Given the description of an element on the screen output the (x, y) to click on. 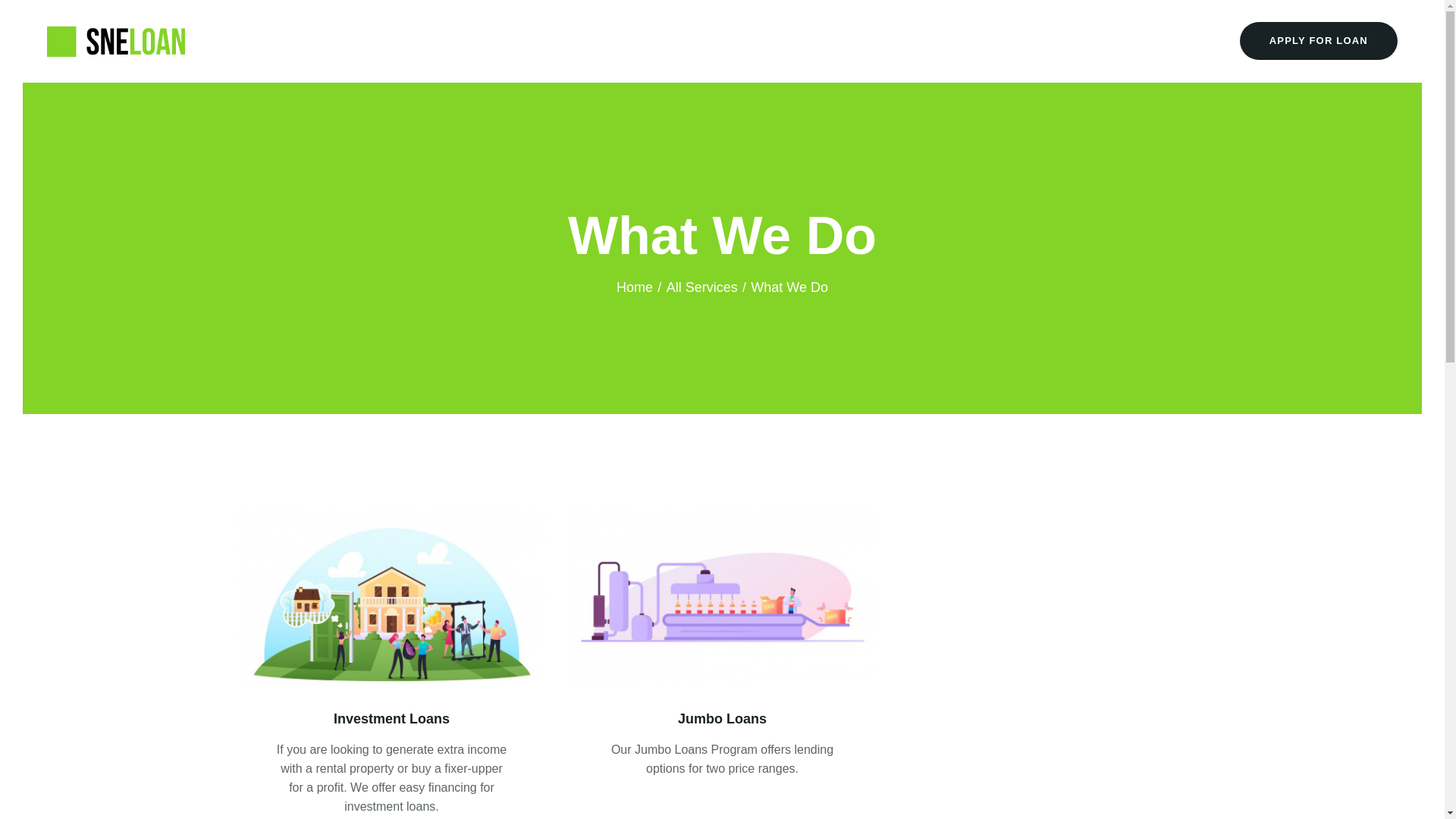
Investment Loans (392, 719)
APPLY FOR LOAN (1318, 40)
All Services (702, 287)
Jumbo Loans (722, 719)
Home (633, 287)
